Given the description of an element on the screen output the (x, y) to click on. 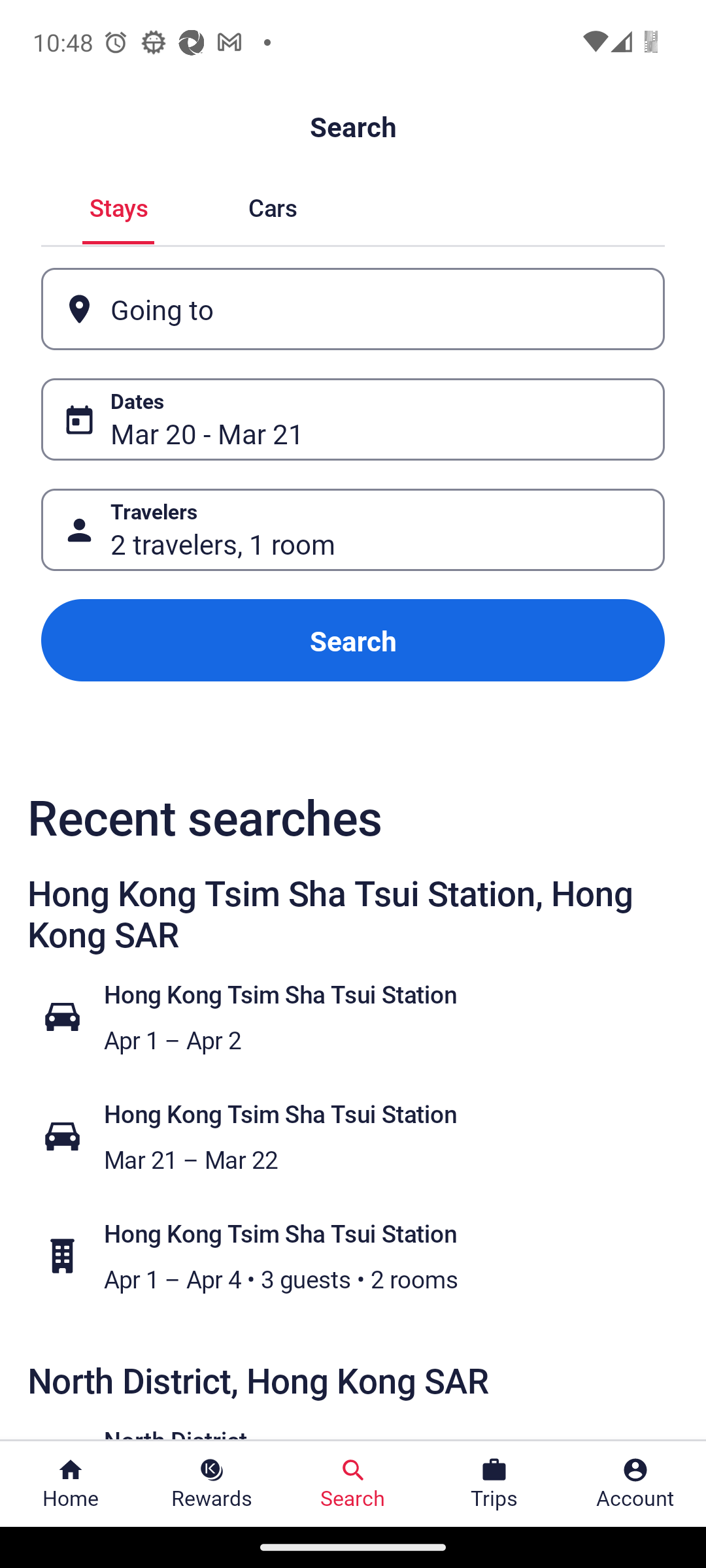
Cars (272, 205)
Going to Button (352, 308)
Dates Button Mar 20 - Mar 21 (352, 418)
Travelers Button 2 travelers, 1 room (352, 529)
Search (352, 640)
Hong Kong Tsim Sha Tsui Station Apr 1 – Apr 2 (363, 1016)
Hong Kong Tsim Sha Tsui Station Mar 21 – Mar 22 (363, 1136)
Home Home Button (70, 1483)
Rewards Rewards Button (211, 1483)
Trips Trips Button (493, 1483)
Account Profile. Button (635, 1483)
